Given the description of an element on the screen output the (x, y) to click on. 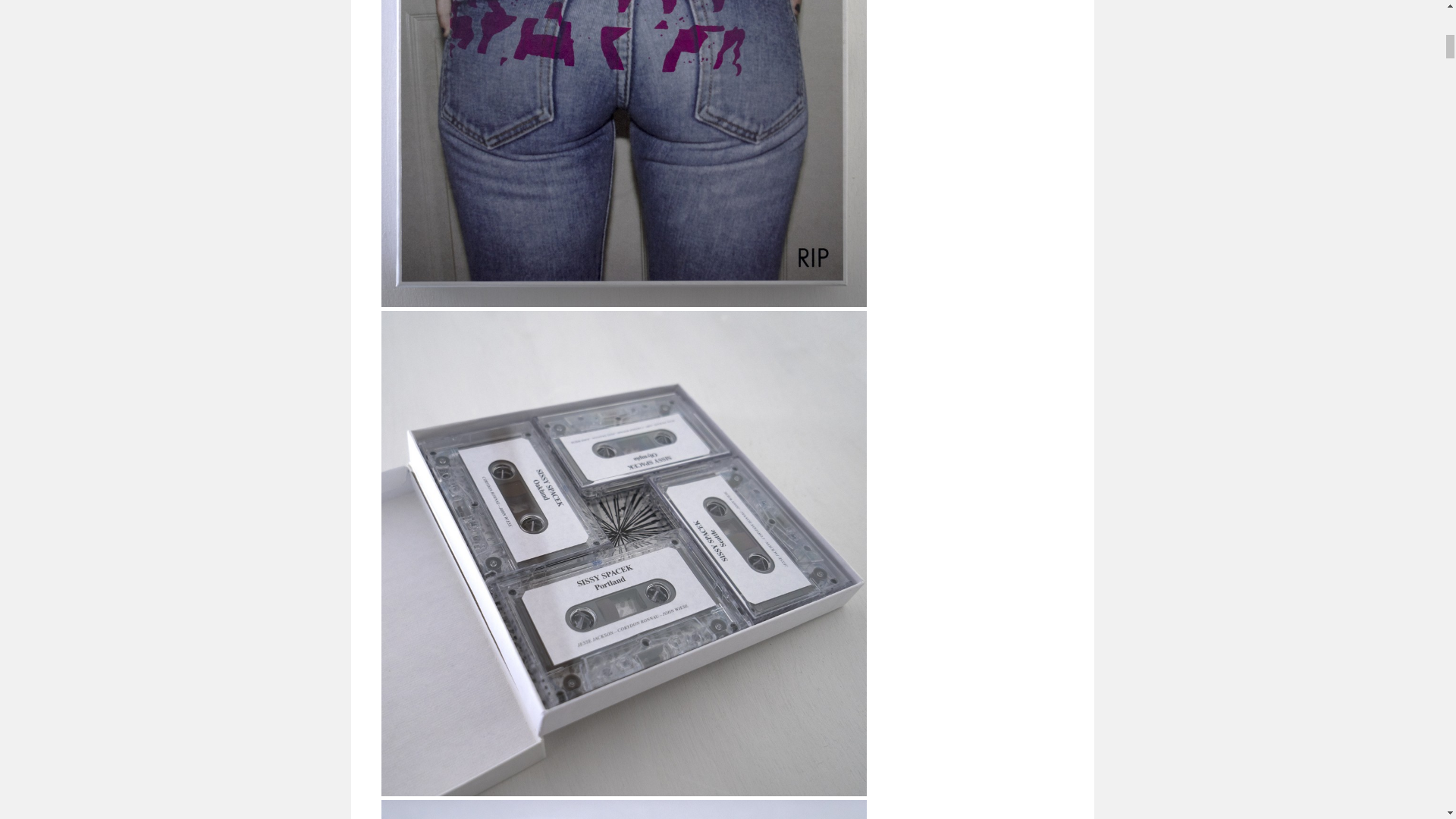
DSC03755 (623, 809)
